Given the description of an element on the screen output the (x, y) to click on. 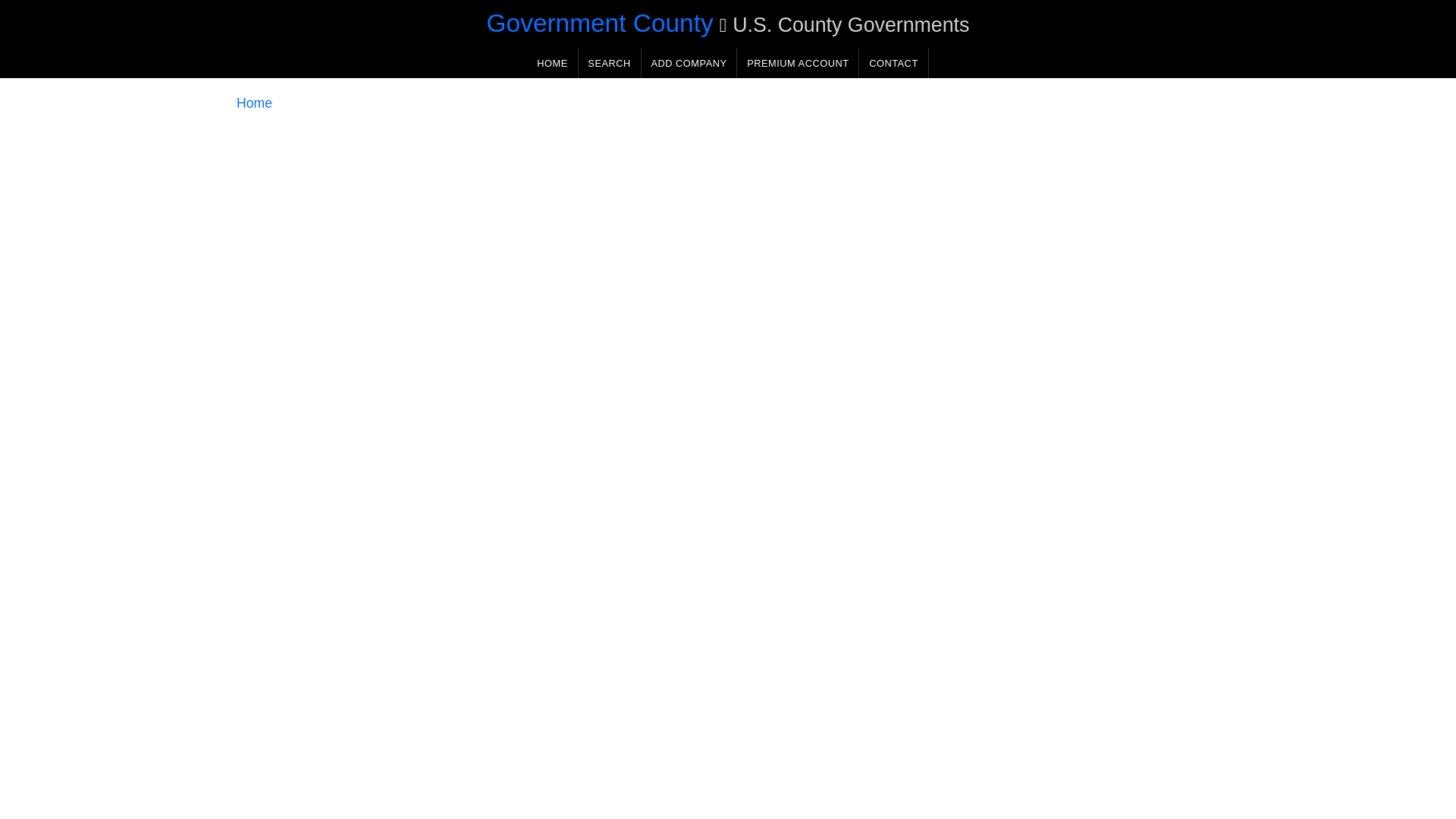
Government County (599, 22)
PREMIUM ACCOUNT (797, 62)
Add a new company (689, 62)
Search in this webseite. (609, 62)
HOME (551, 62)
SEARCH (609, 62)
CONTACT (893, 62)
ADD COMPANY (689, 62)
Premium account (797, 62)
